Given the description of an element on the screen output the (x, y) to click on. 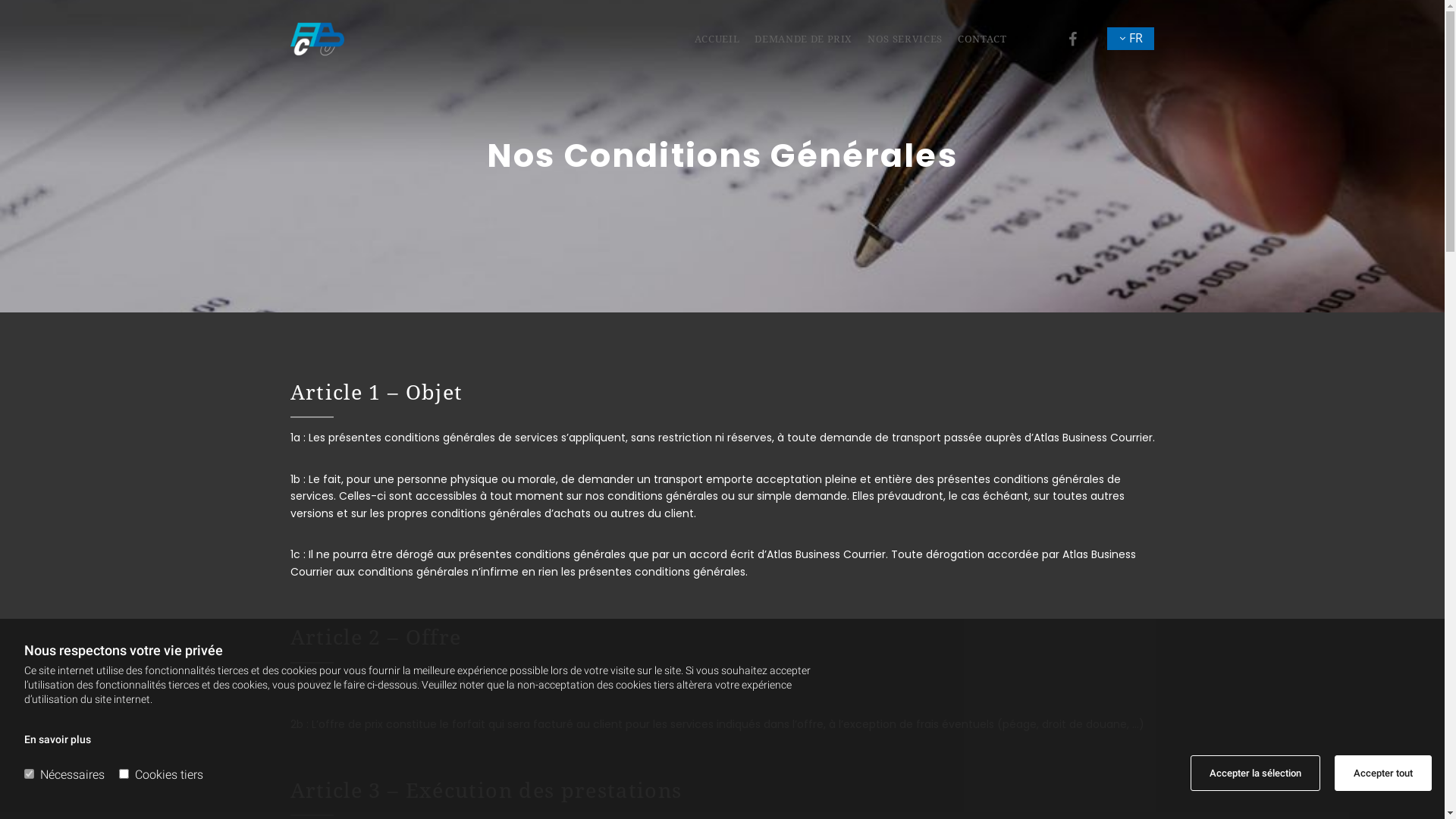
FR Element type: text (1130, 37)
CONTACT Element type: text (974, 38)
Accepter tout Element type: text (1382, 772)
ACCUEIL Element type: text (709, 38)
NOS SERVICES Element type: text (897, 38)
Facebook Element type: hover (1072, 39)
DEMANDE DE PRIX Element type: text (795, 38)
En savoir plus Element type: text (57, 739)
